Given the description of an element on the screen output the (x, y) to click on. 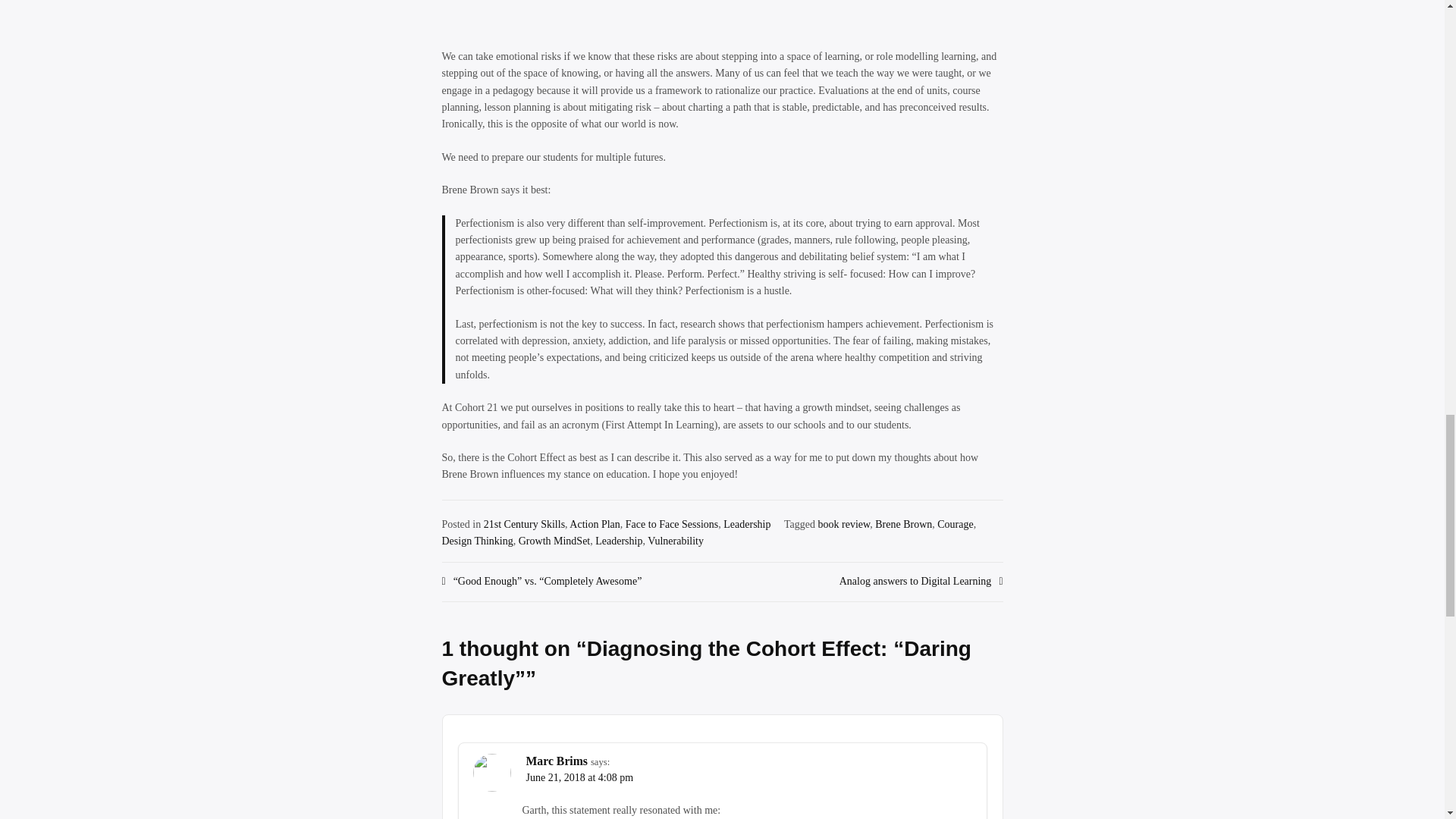
Leadership (746, 523)
book review (844, 523)
Growth MindSet (554, 541)
Marc Brims (556, 760)
Courage (954, 523)
Action Plan (594, 523)
Face to Face Sessions (671, 523)
21st Century Skills (523, 523)
June 21, 2018 at 4:08 pm (579, 777)
Leadership (618, 541)
